Given the description of an element on the screen output the (x, y) to click on. 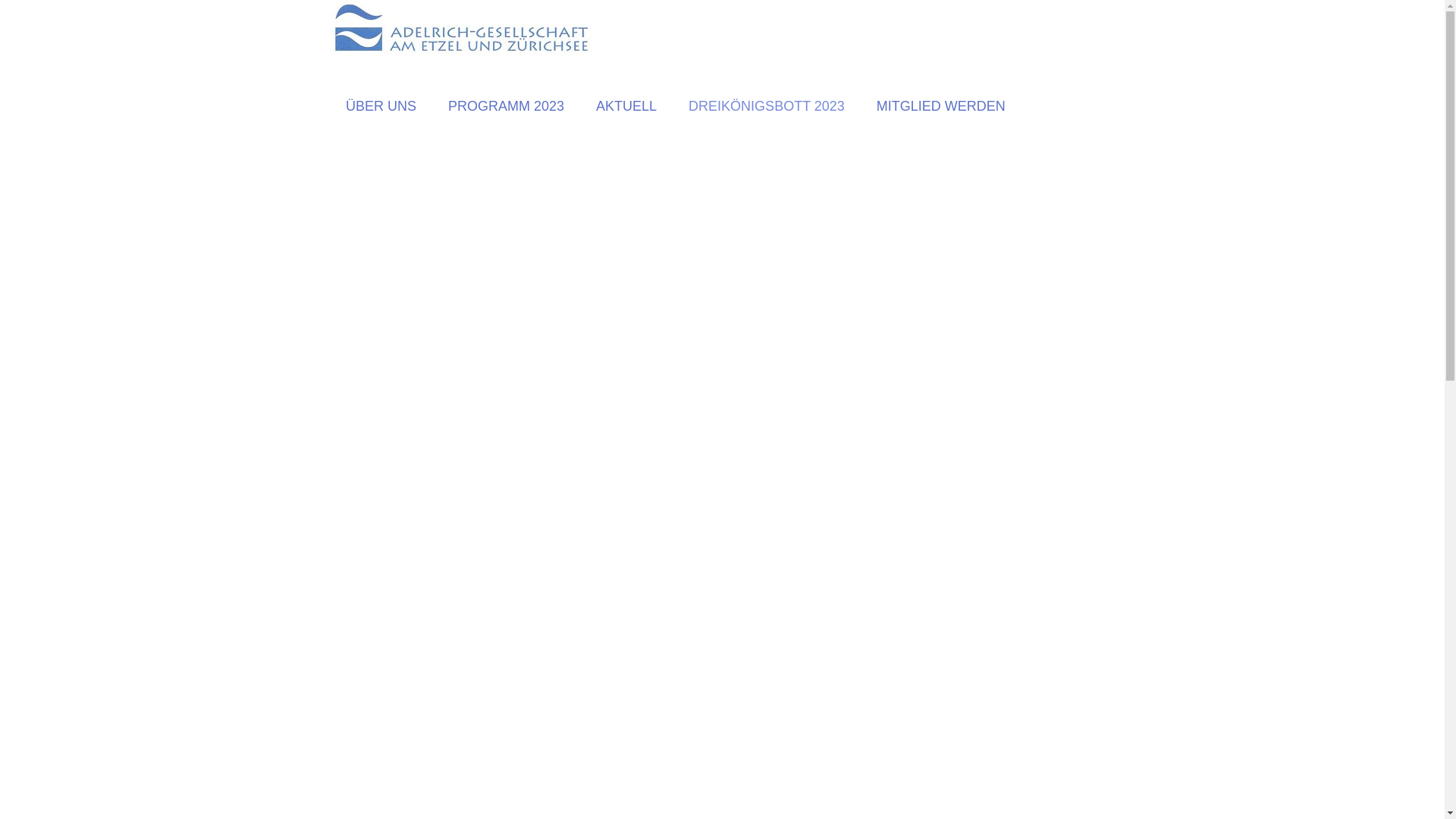
PROGRAMM 2023 Element type: text (506, 107)
AKTUELL Element type: text (625, 107)
MITGLIED WERDEN Element type: text (940, 107)
